Given the description of an element on the screen output the (x, y) to click on. 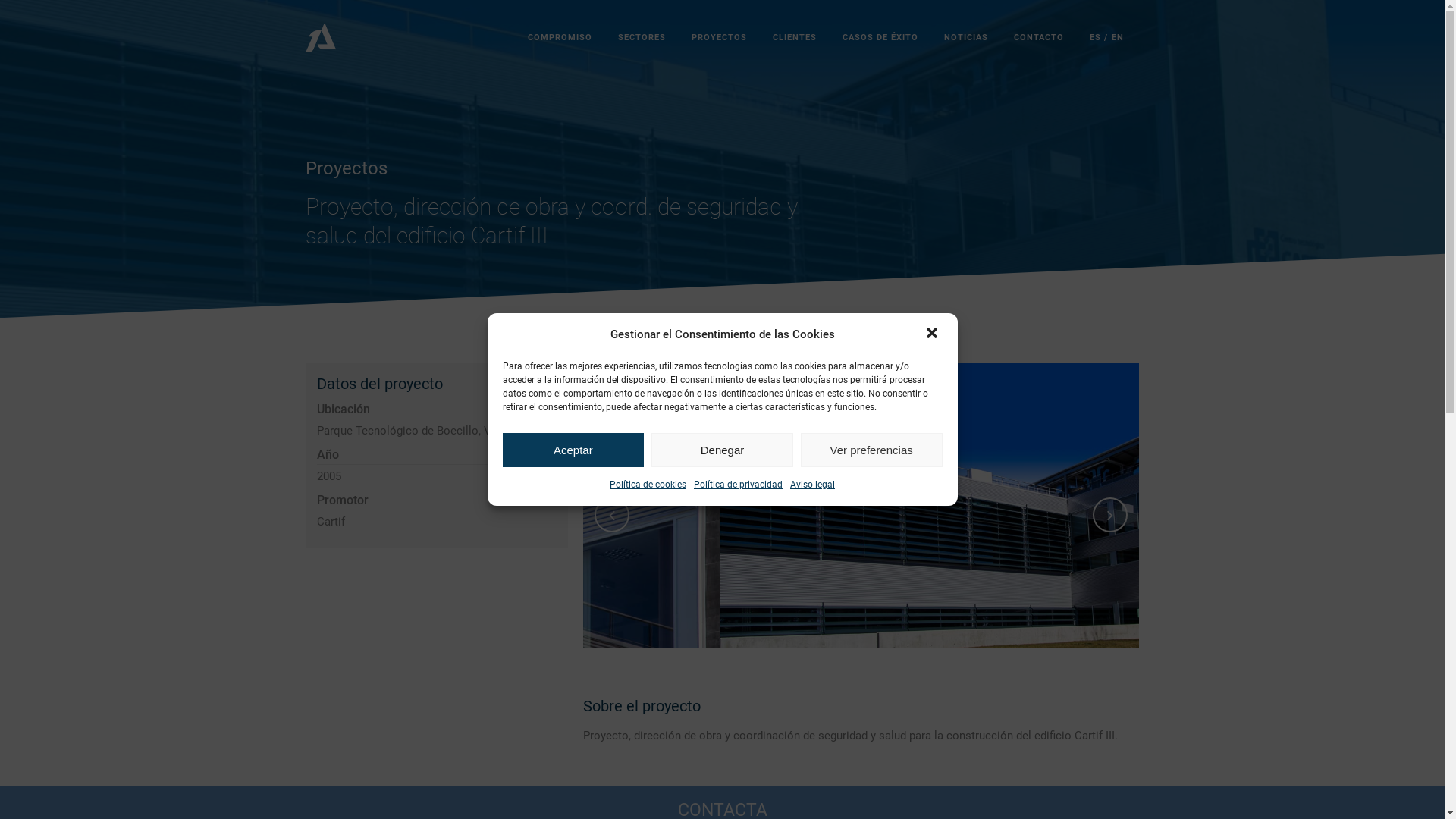
EN Element type: text (1121, 37)
SECTORES Element type: text (641, 37)
PROYECTOS Element type: text (718, 37)
Denegar Element type: text (722, 450)
NOTICIAS Element type: text (966, 37)
Ver preferencias Element type: text (871, 450)
COMPROMISO Element type: text (559, 37)
ES Element type: text (1090, 37)
Aviso legal Element type: text (812, 484)
CONTACTO Element type: text (1038, 37)
CLIENTES Element type: text (794, 37)
Aceptar Element type: text (572, 450)
